Given the description of an element on the screen output the (x, y) to click on. 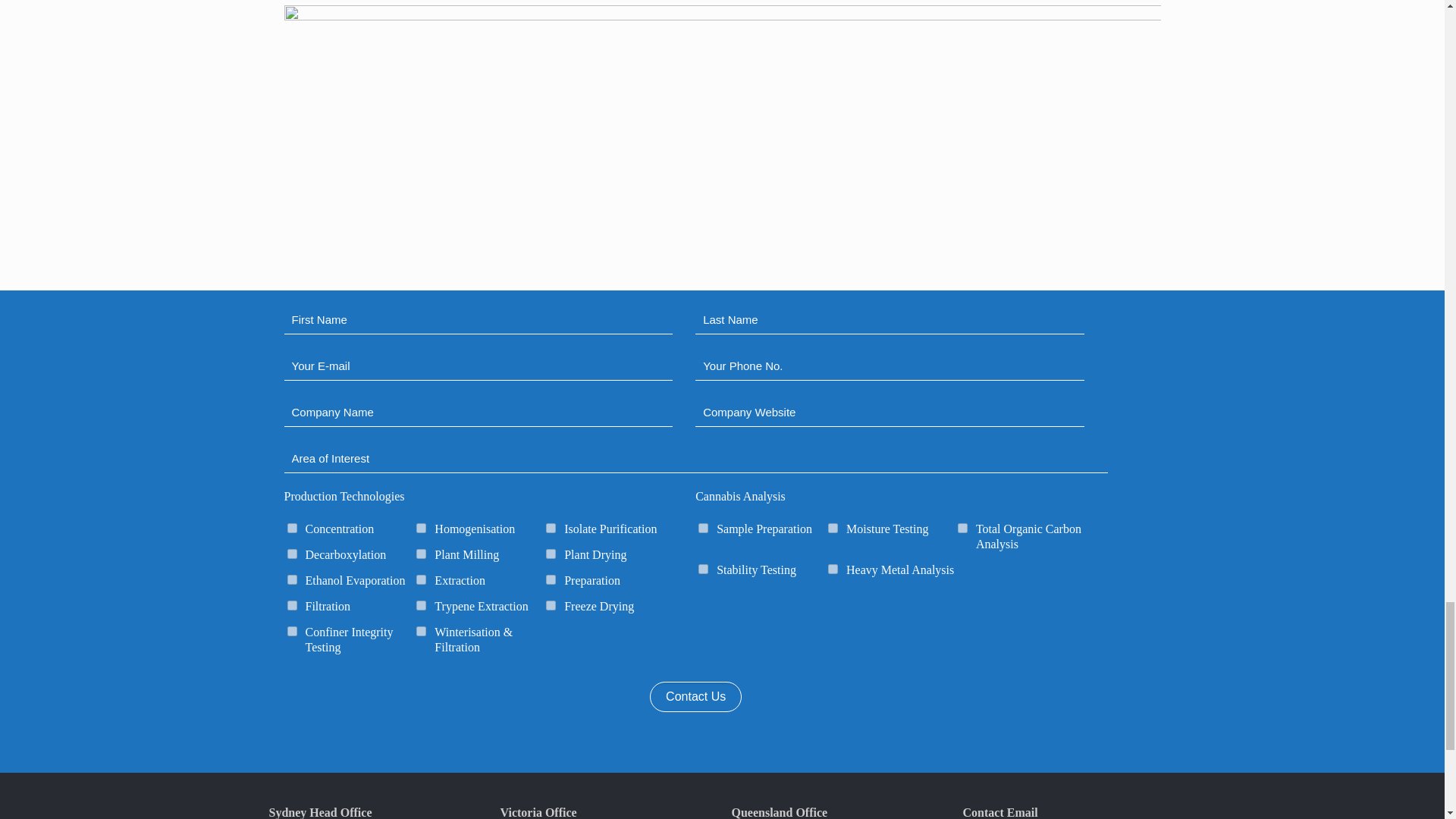
Freeze Drying (551, 605)
Plant Milling (421, 553)
Isolate Purification (551, 528)
Trypene Extraction (421, 605)
Plant Drying (551, 553)
Preparation (551, 579)
Concentration (291, 528)
Extraction (421, 579)
Confiner Integrity Testing (291, 631)
Homogenisation (421, 528)
Ethanol Evaporation (291, 579)
Filtration (291, 605)
Decarboxylation (291, 553)
